Given the description of an element on the screen output the (x, y) to click on. 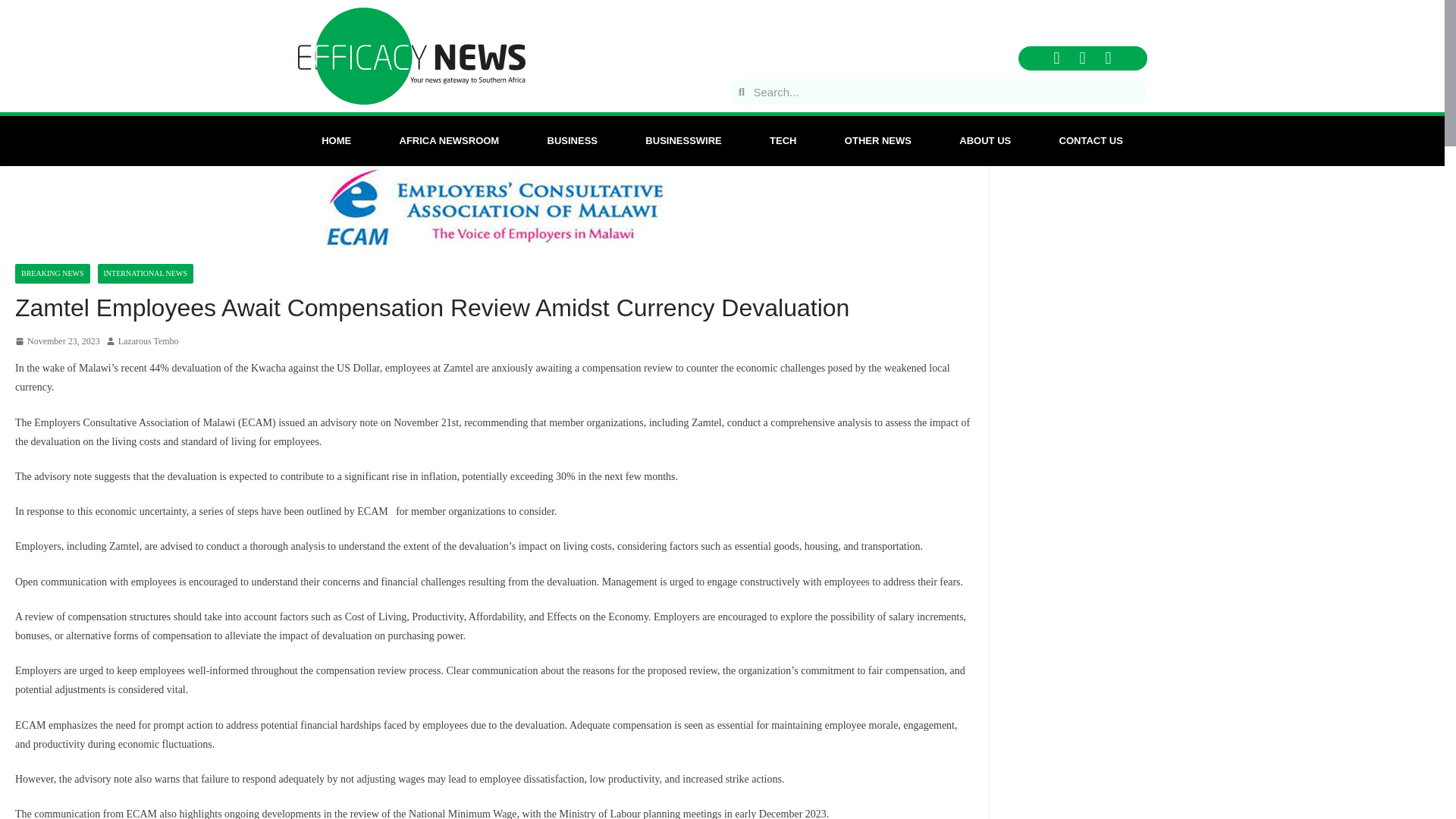
BUSINESSWIRE (683, 140)
CONTACT US (1091, 140)
OTHER NEWS (877, 140)
AFRICA NEWSROOM (448, 140)
HOME (335, 140)
10:02 am (57, 341)
Lazarous Tembo (148, 341)
TECH (783, 140)
ABOUT US (985, 140)
BUSINESS (571, 140)
